Given the description of an element on the screen output the (x, y) to click on. 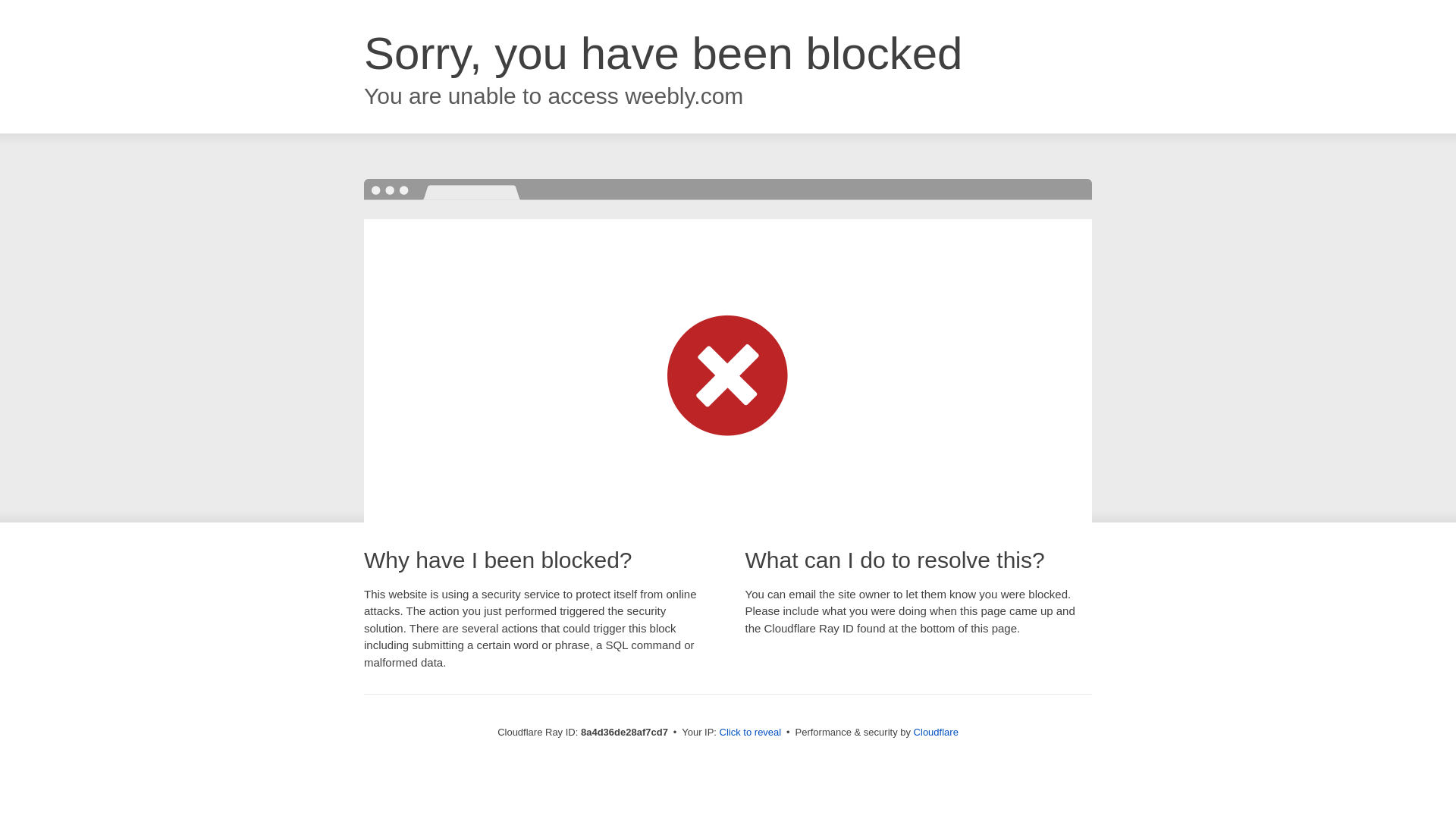
Cloudflare (936, 731)
Click to reveal (750, 732)
